Given the description of an element on the screen output the (x, y) to click on. 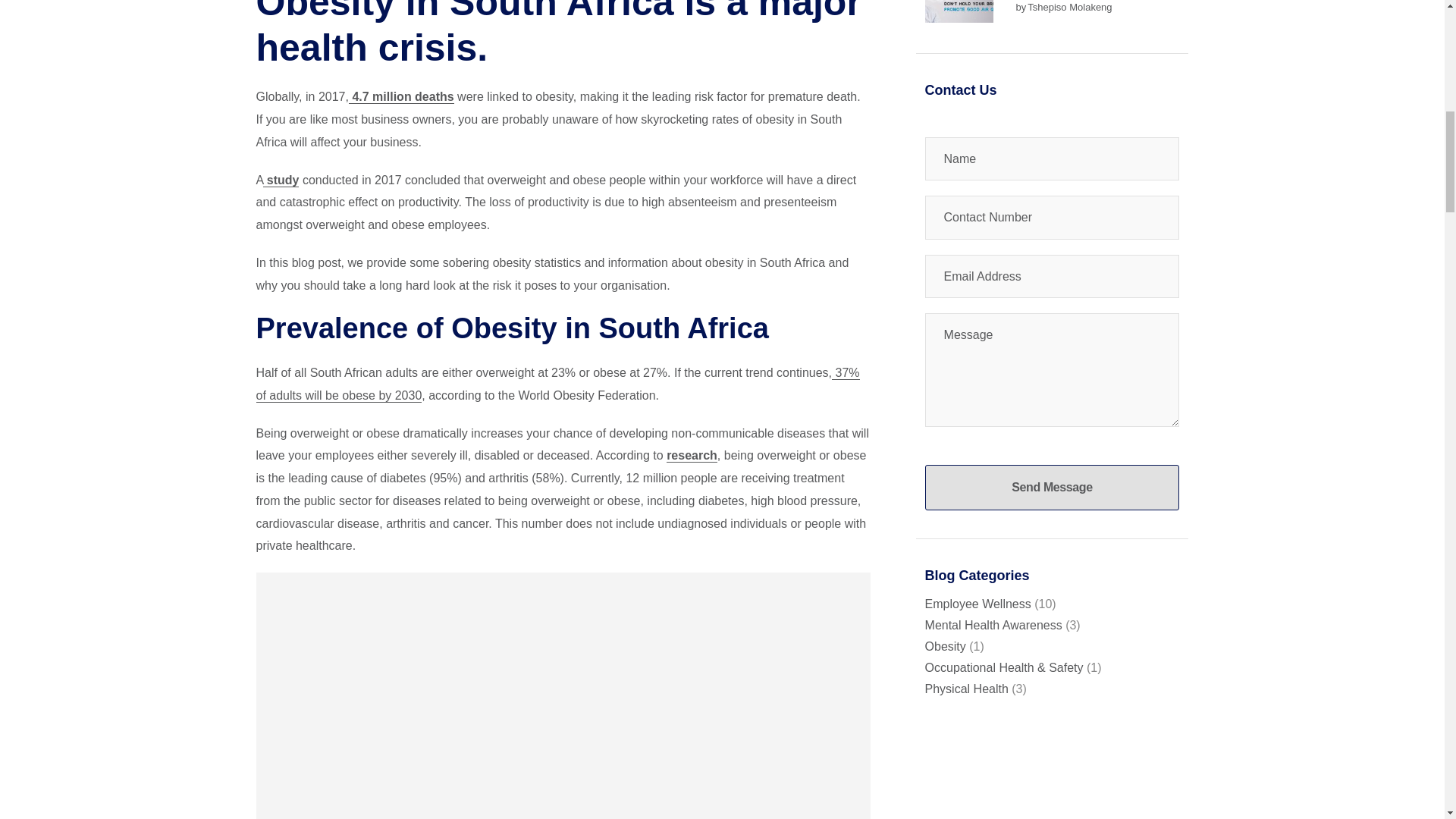
Tshepiso Molakeng (1069, 7)
Posts by tshepiso molakeng (1069, 7)
